Given the description of an element on the screen output the (x, y) to click on. 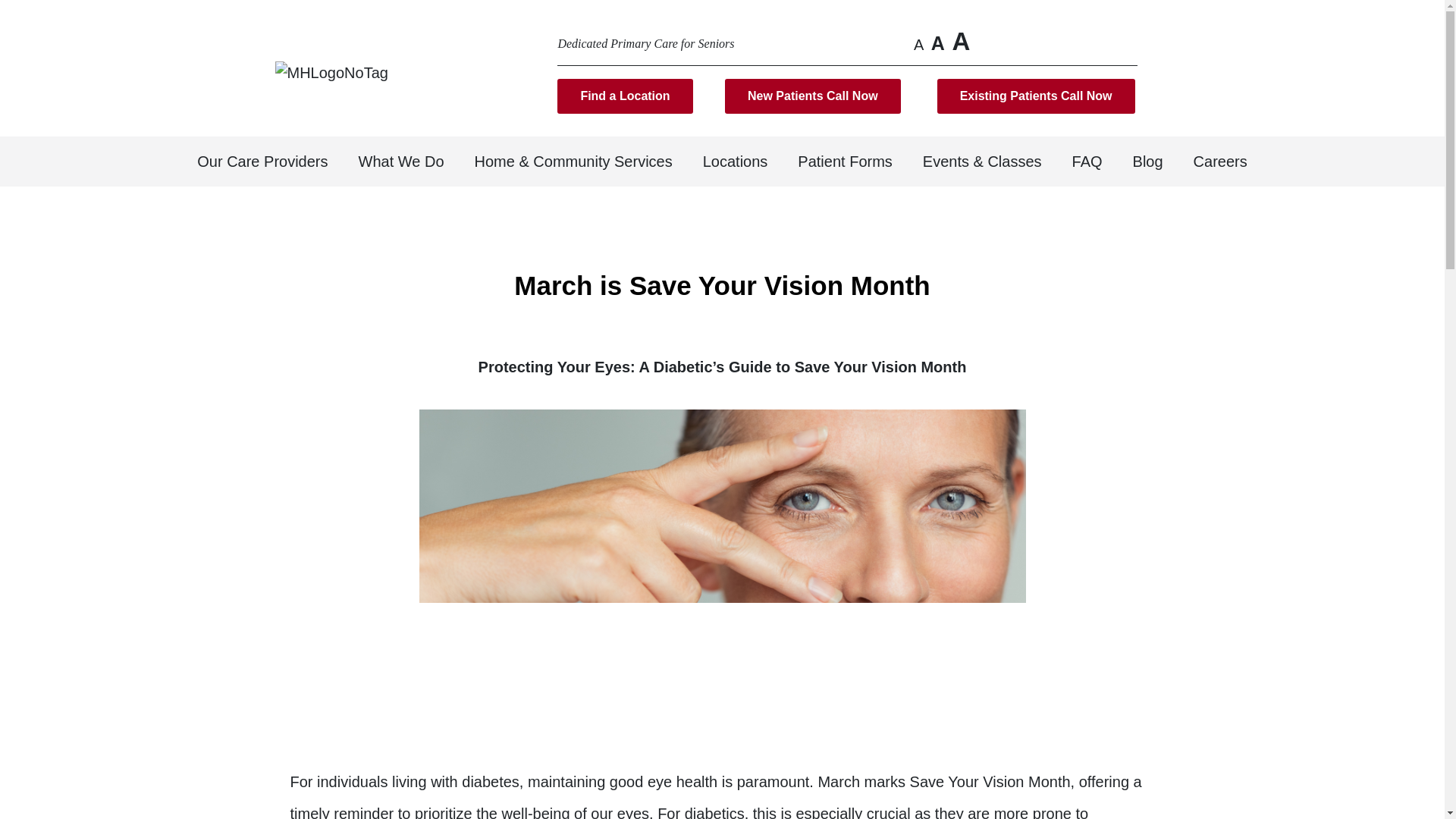
Blog (1147, 161)
Careers (1219, 161)
Find a Location (625, 95)
Locations (735, 161)
FAQ (1087, 161)
What We Do (401, 161)
Our Care Providers (262, 161)
New Patients Call Now (813, 95)
MHLogoNoTag (331, 72)
Existing Patients Call Now (1036, 95)
